Given the description of an element on the screen output the (x, y) to click on. 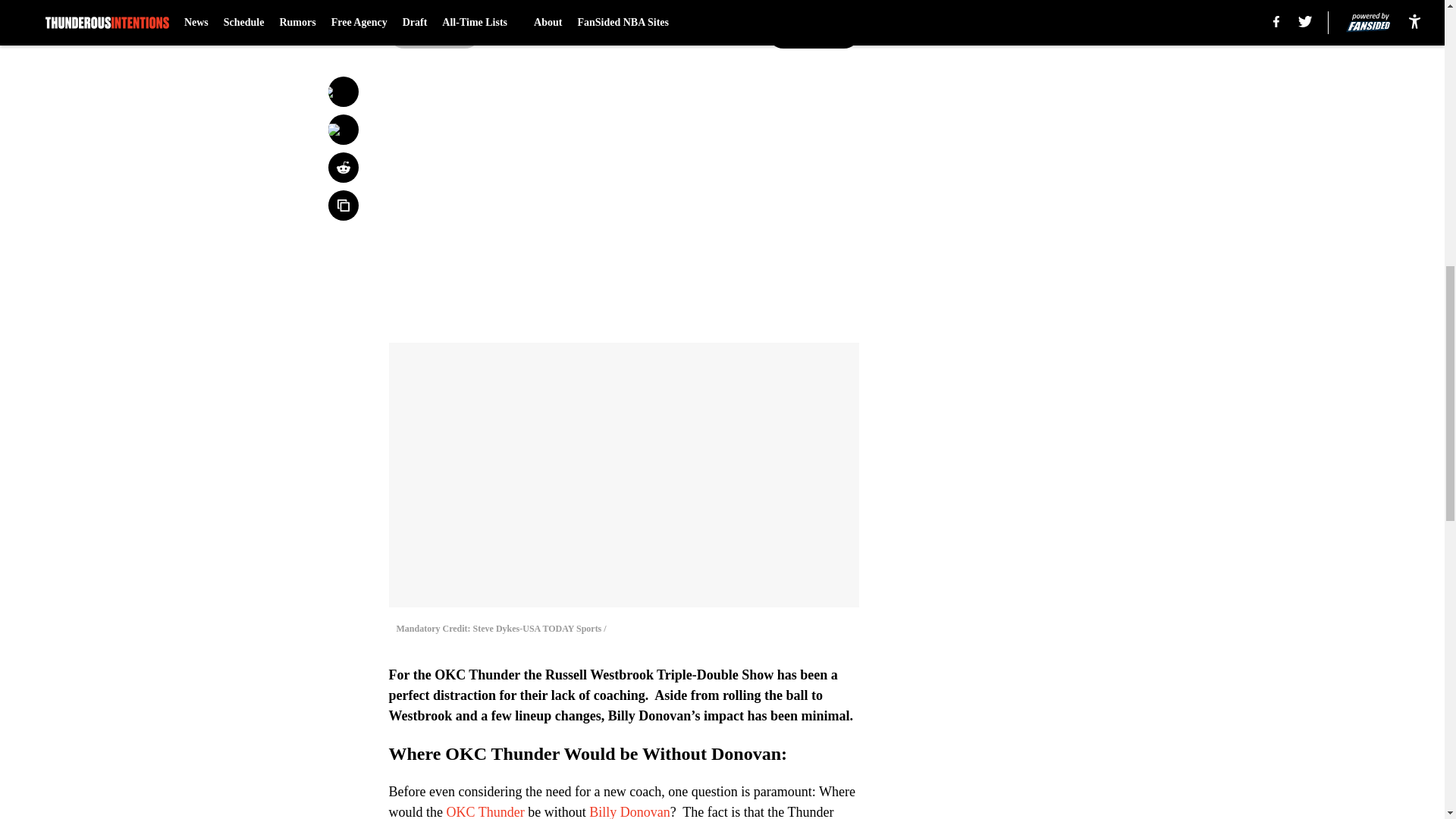
Prev (433, 33)
Billy Donovan (629, 811)
Next (813, 33)
OKC Thunder (484, 811)
